Given the description of an element on the screen output the (x, y) to click on. 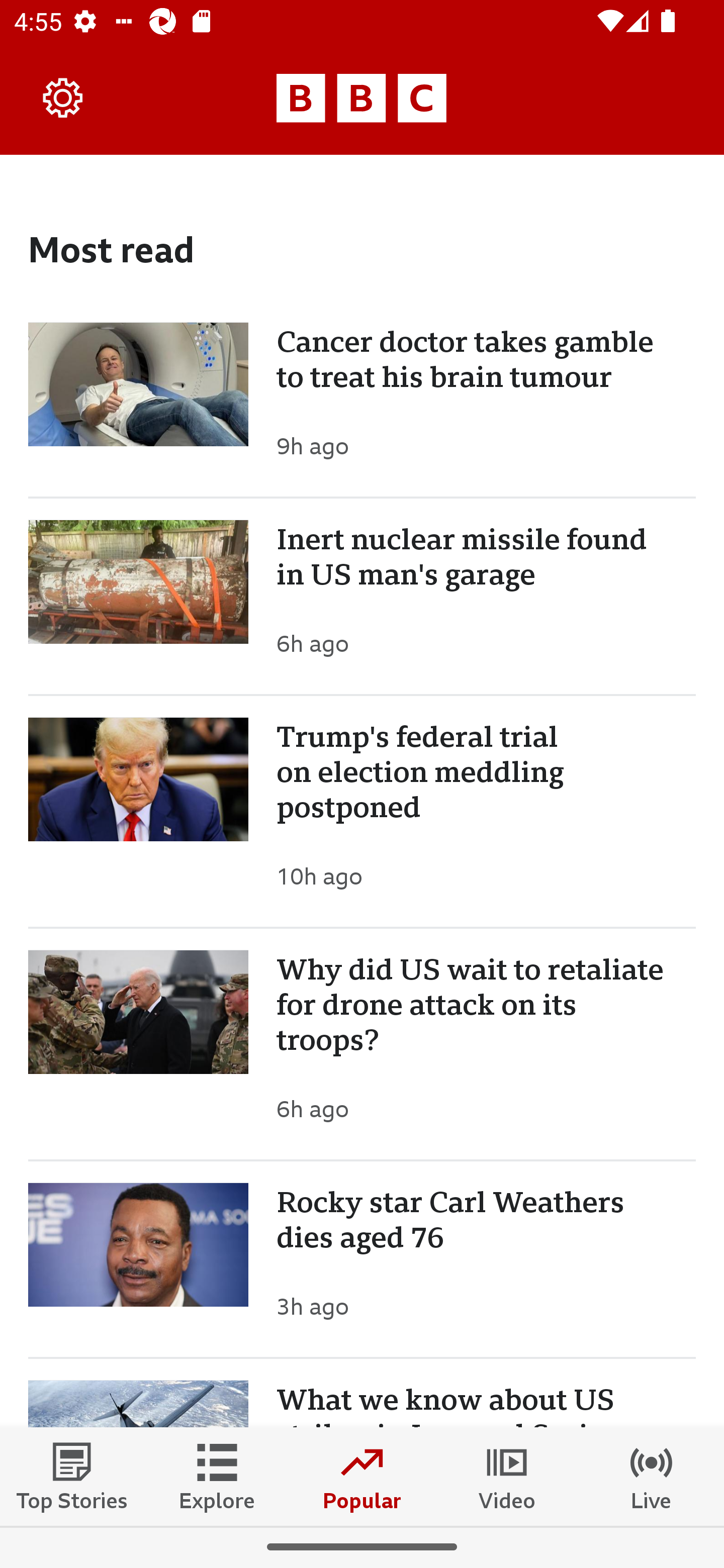
Settings (63, 97)
Top Stories (72, 1475)
Explore (216, 1475)
Video (506, 1475)
Live (651, 1475)
